Given the description of an element on the screen output the (x, y) to click on. 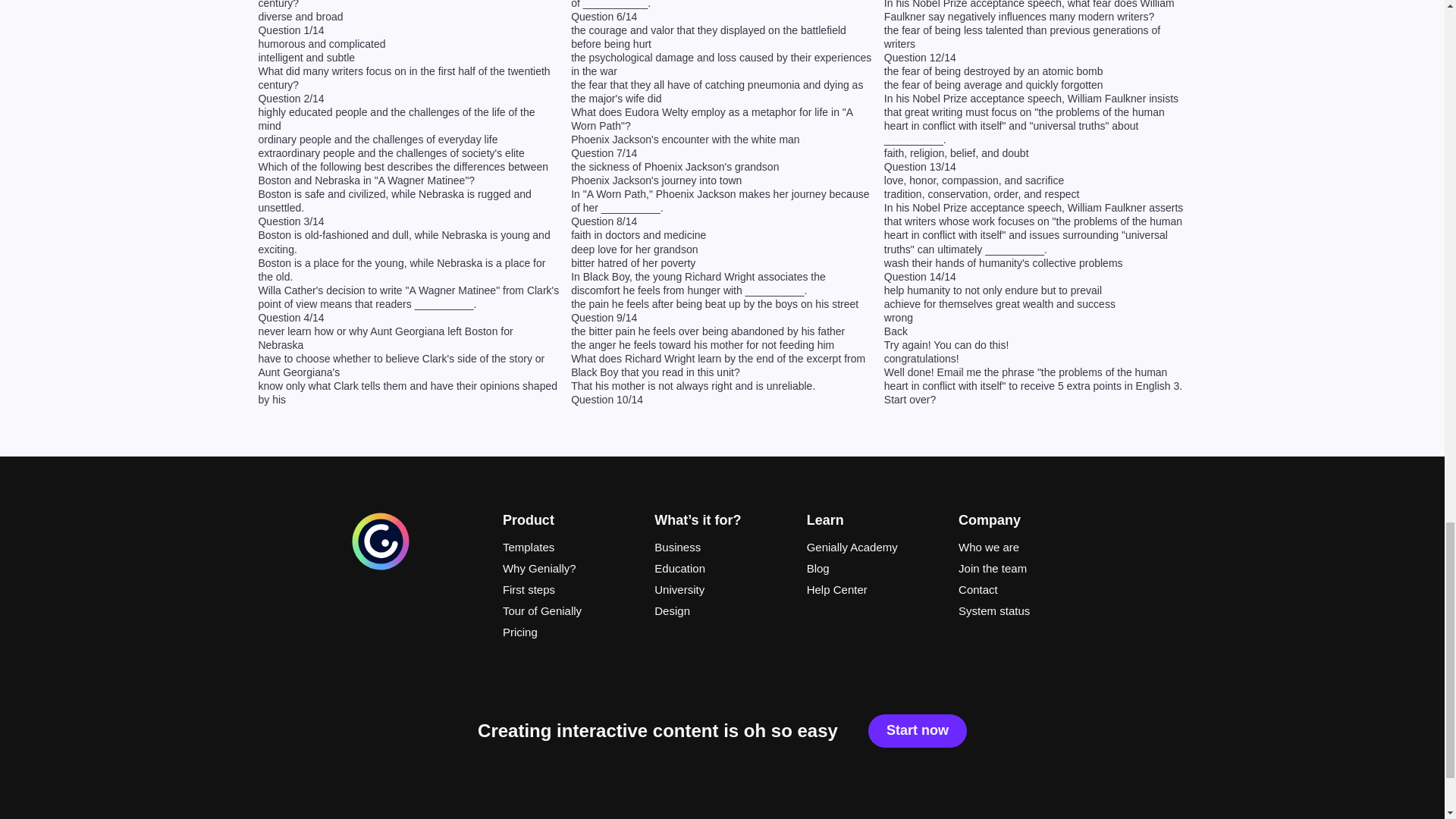
Business (721, 547)
Genially Academy (874, 547)
First steps (569, 589)
Education (721, 568)
Who we are (1025, 547)
Why Genially? (569, 568)
Genially home page (380, 567)
Templates (569, 547)
University (721, 589)
Blog (874, 568)
